Given the description of an element on the screen output the (x, y) to click on. 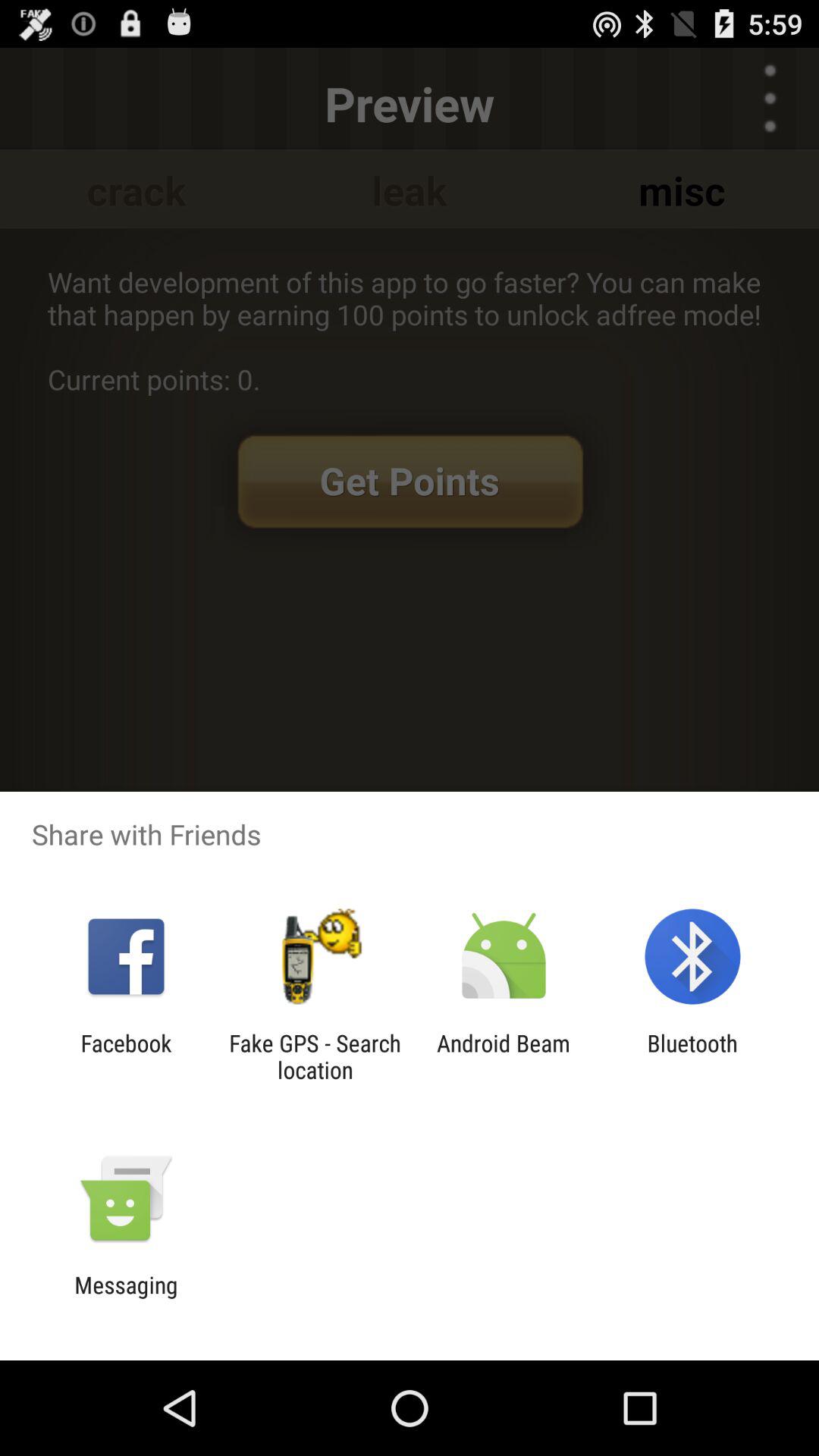
press the facebook (125, 1056)
